Given the description of an element on the screen output the (x, y) to click on. 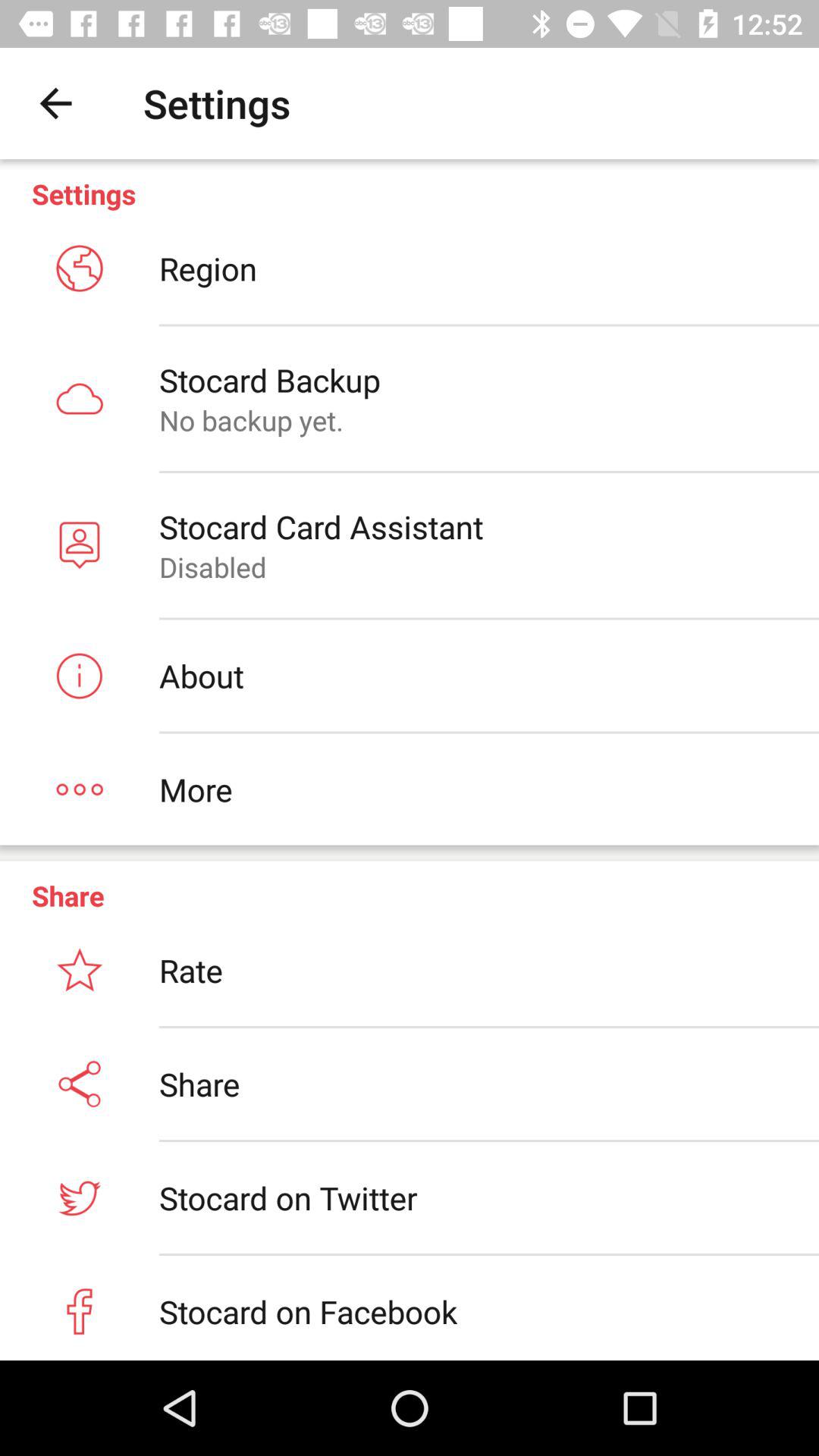
click the item to the left of settings item (55, 103)
